Given the description of an element on the screen output the (x, y) to click on. 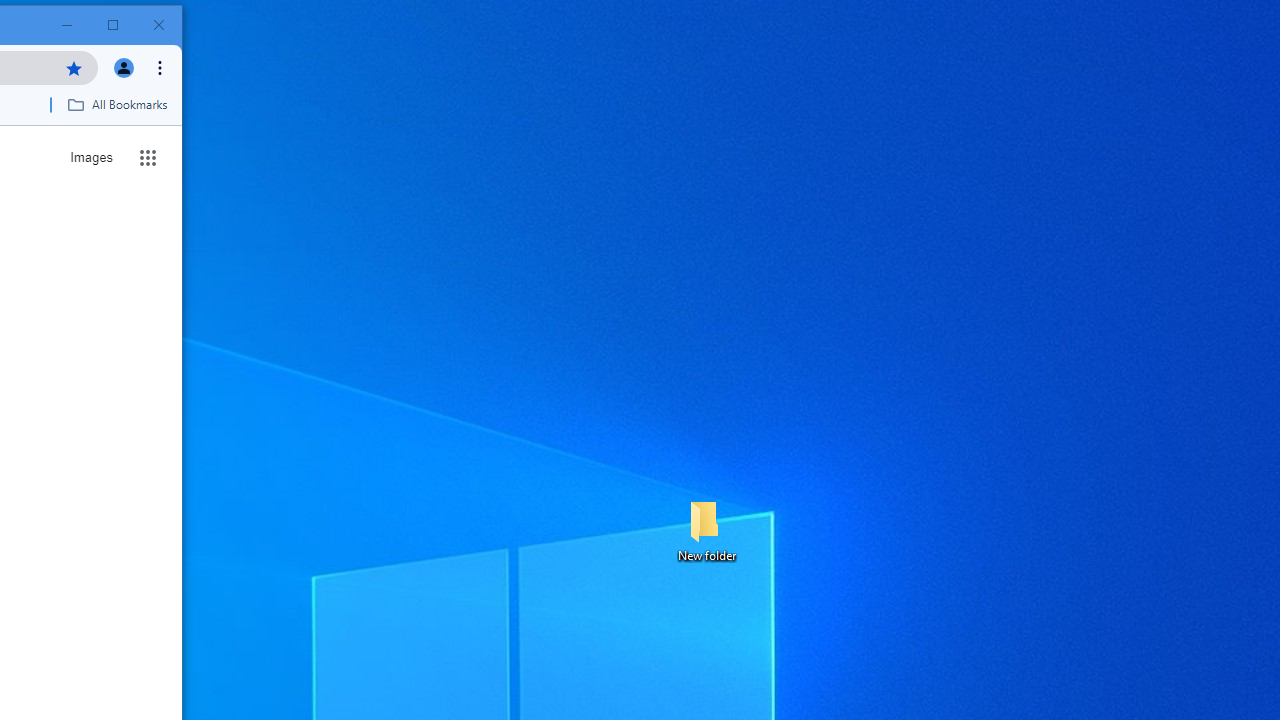
New folder (706, 530)
